Given the description of an element on the screen output the (x, y) to click on. 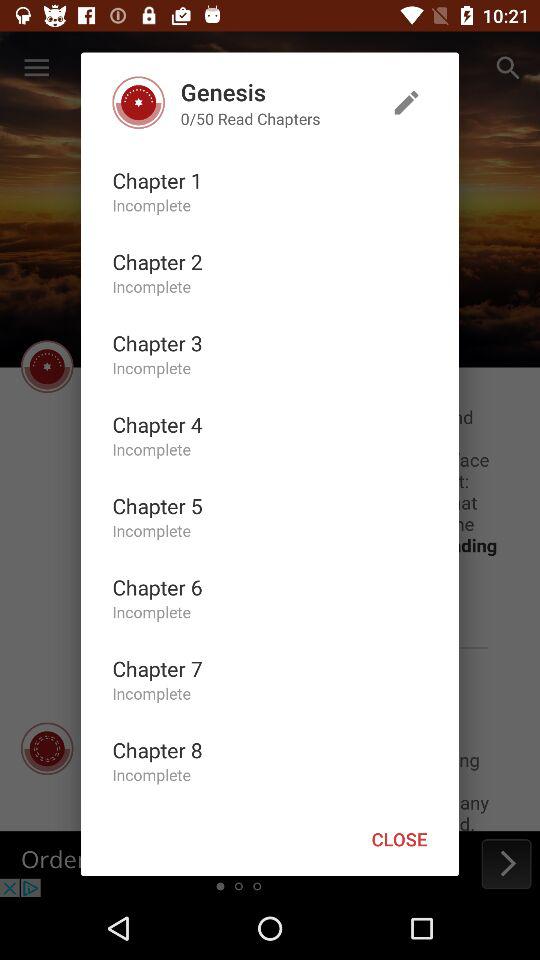
tap icon below the incomplete icon (157, 587)
